Given the description of an element on the screen output the (x, y) to click on. 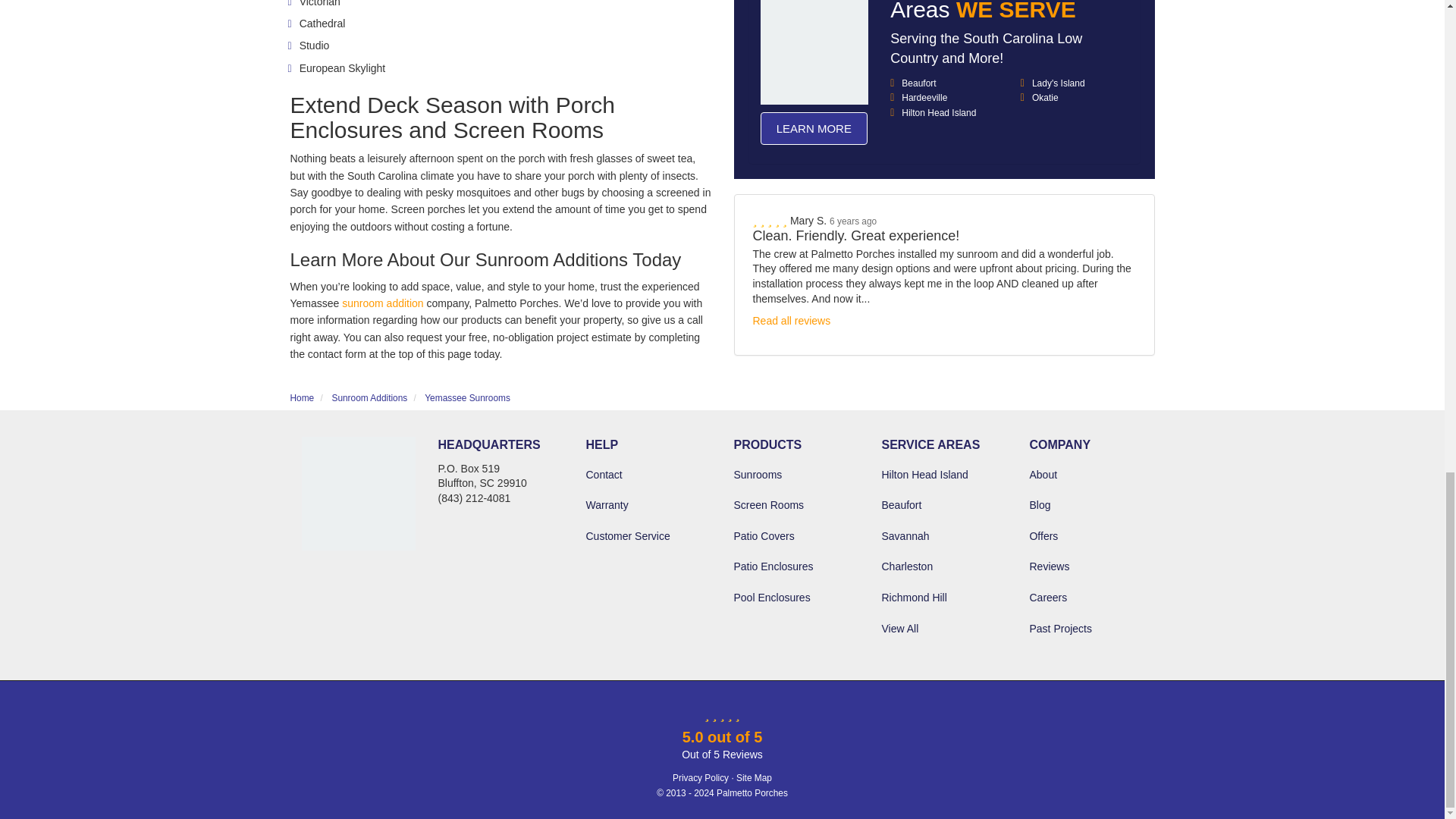
5 Stars (770, 112)
